Given the description of an element on the screen output the (x, y) to click on. 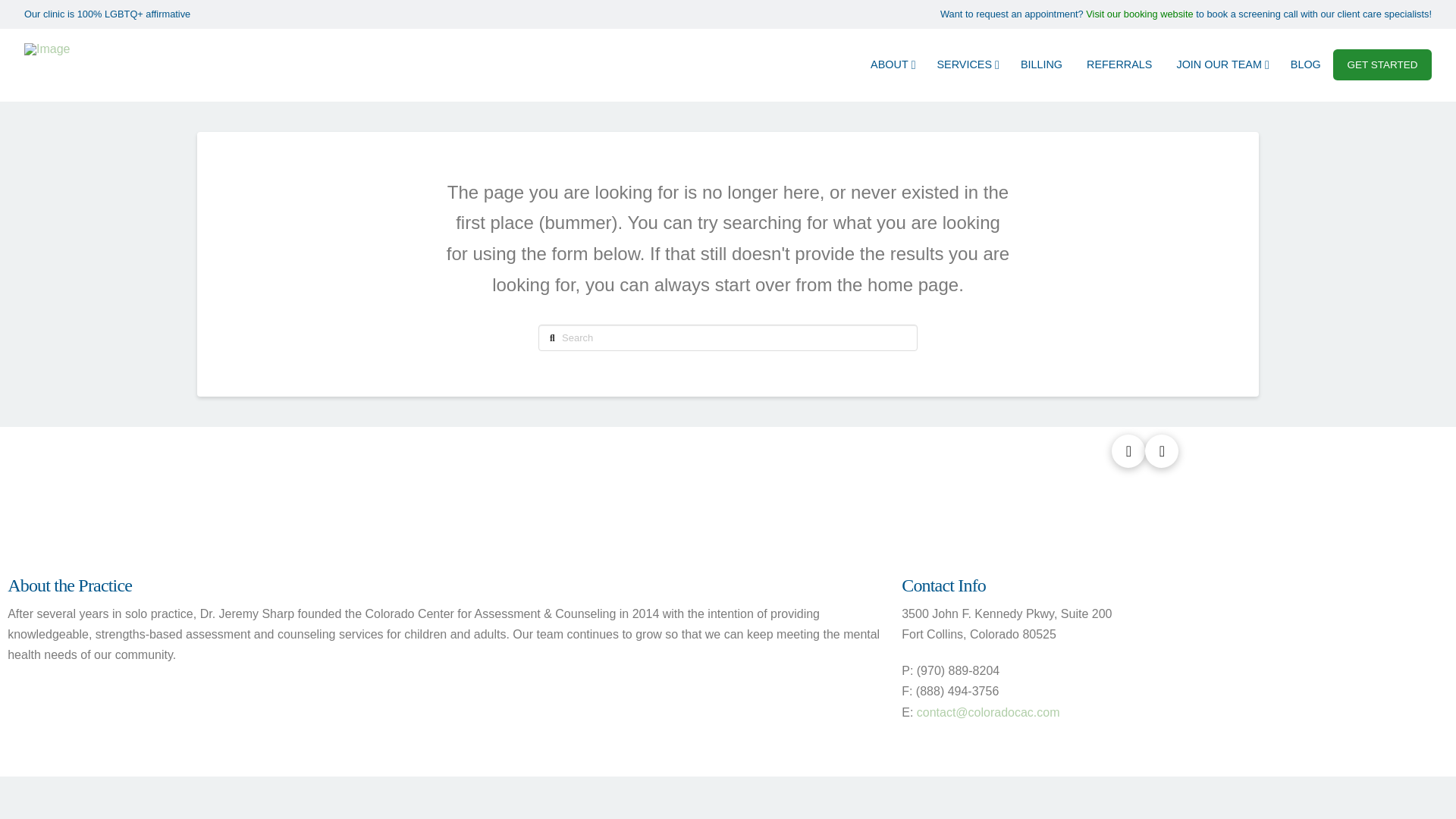
Visit our booking website (1139, 13)
BILLING (1041, 64)
ABOUT (891, 64)
SERVICES (966, 64)
REFERRALS (1118, 64)
JOIN OUR TEAM (1220, 64)
GET STARTED (1382, 64)
